Given the description of an element on the screen output the (x, y) to click on. 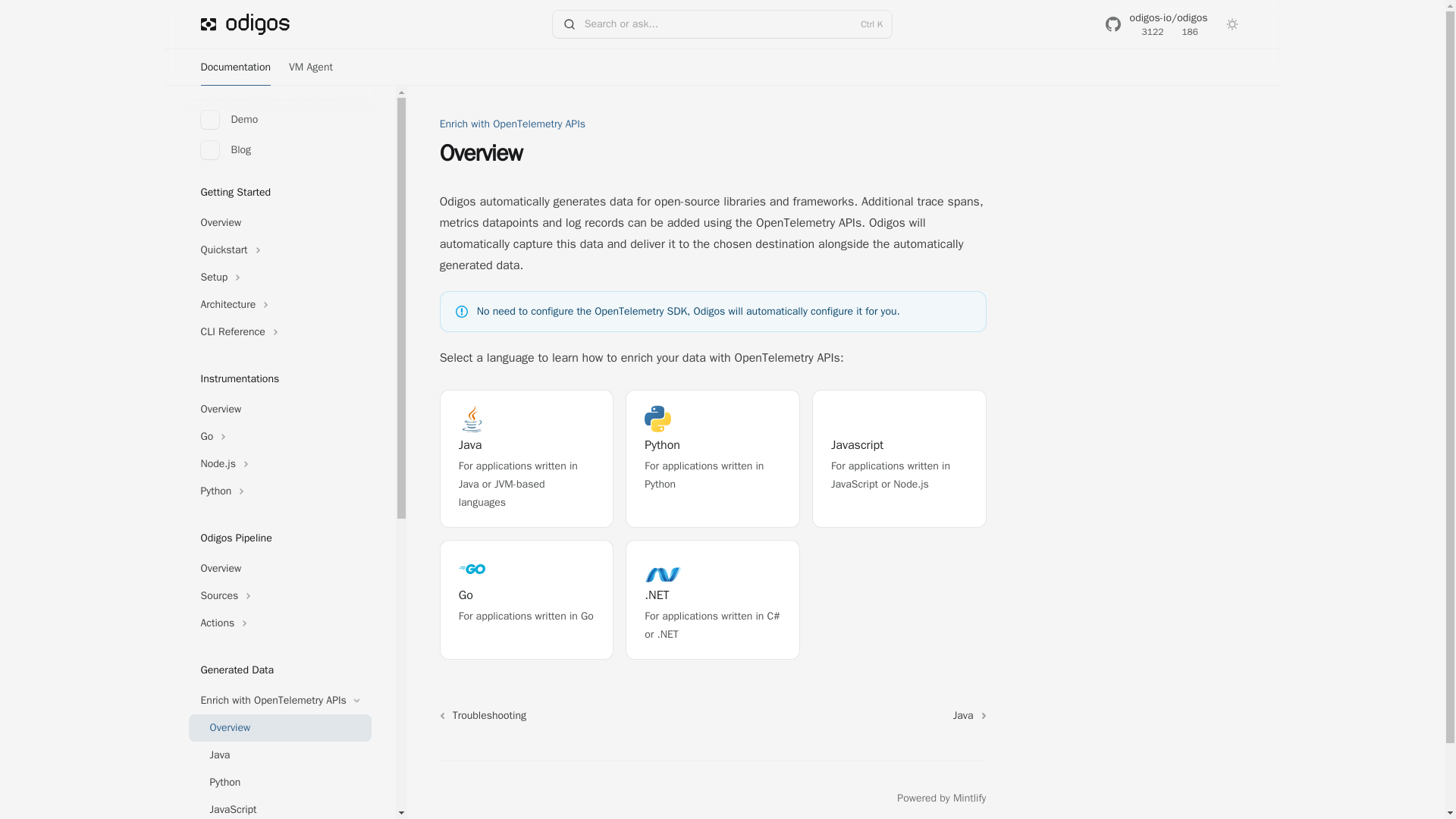
Python (279, 782)
slack (722, 23)
Overview (480, 798)
github (279, 568)
Blog (526, 599)
Documentation (446, 798)
Overview (279, 149)
Java (712, 458)
Overview (899, 458)
Powered by Mintlify (235, 67)
